Given the description of an element on the screen output the (x, y) to click on. 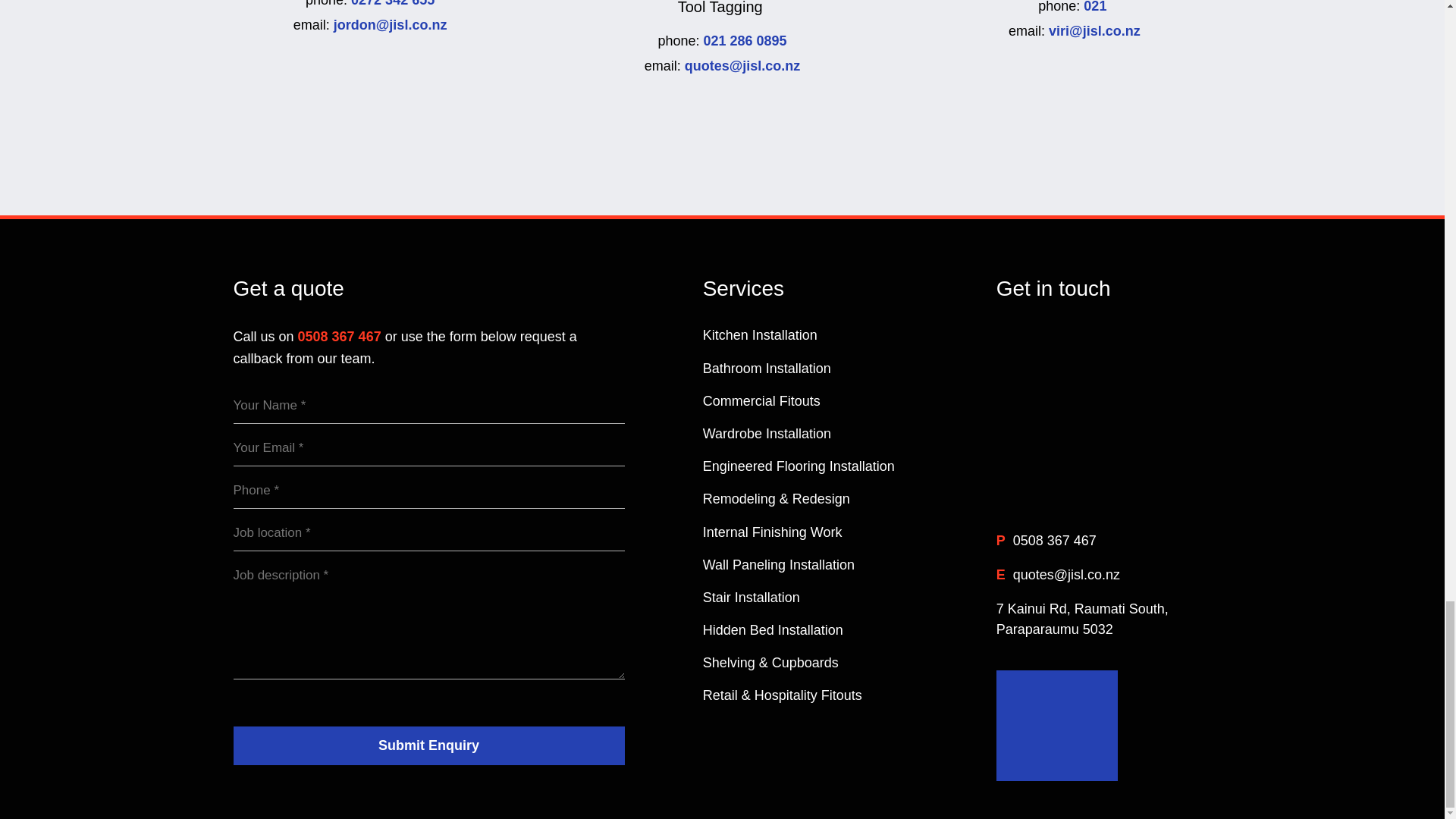
021 286 0895 (744, 40)
0272 342 655 (391, 3)
Submit Enquiry (428, 745)
